Given the description of an element on the screen output the (x, y) to click on. 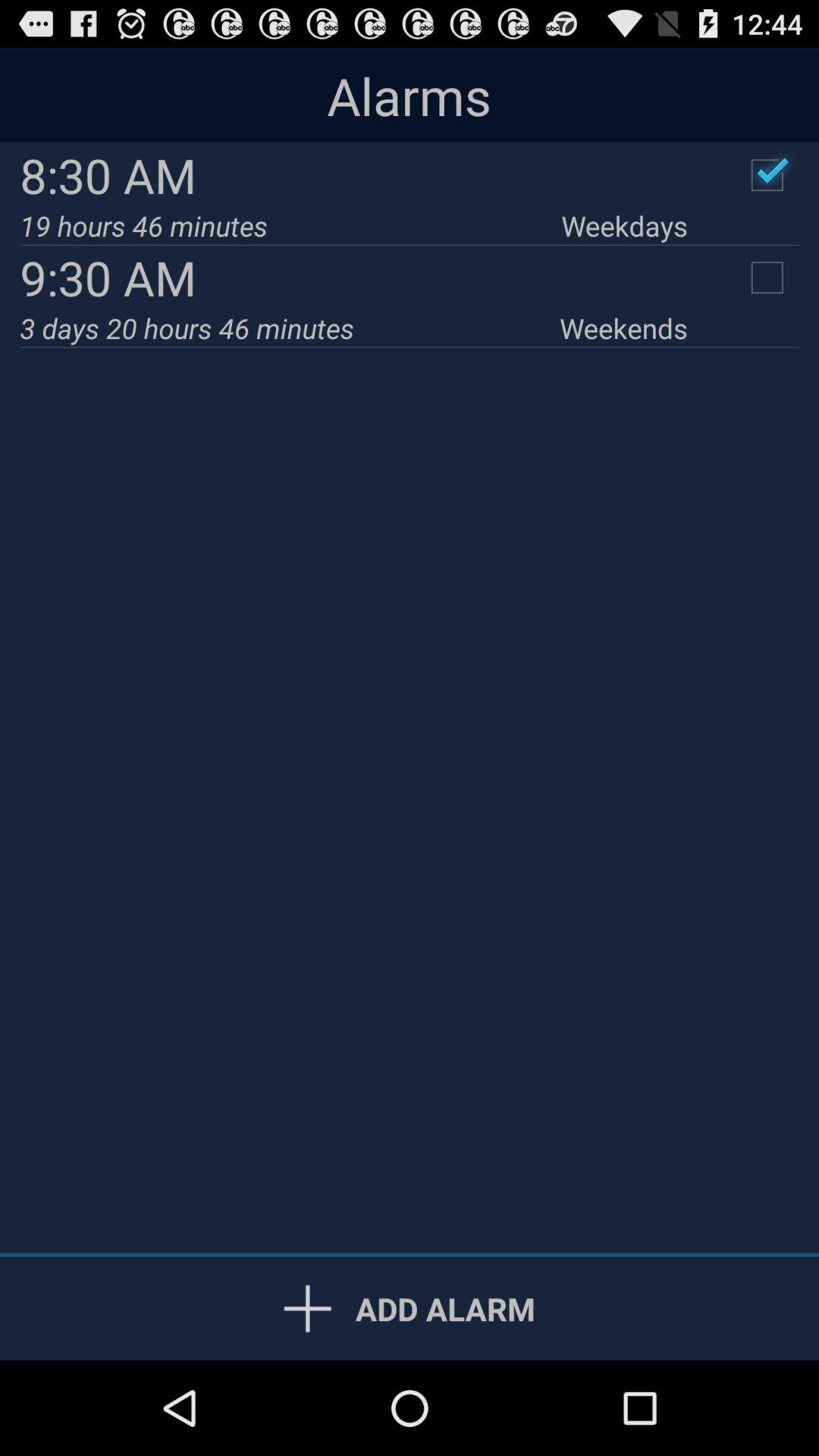
click the app to the left of the weekends app (289, 327)
